Given the description of an element on the screen output the (x, y) to click on. 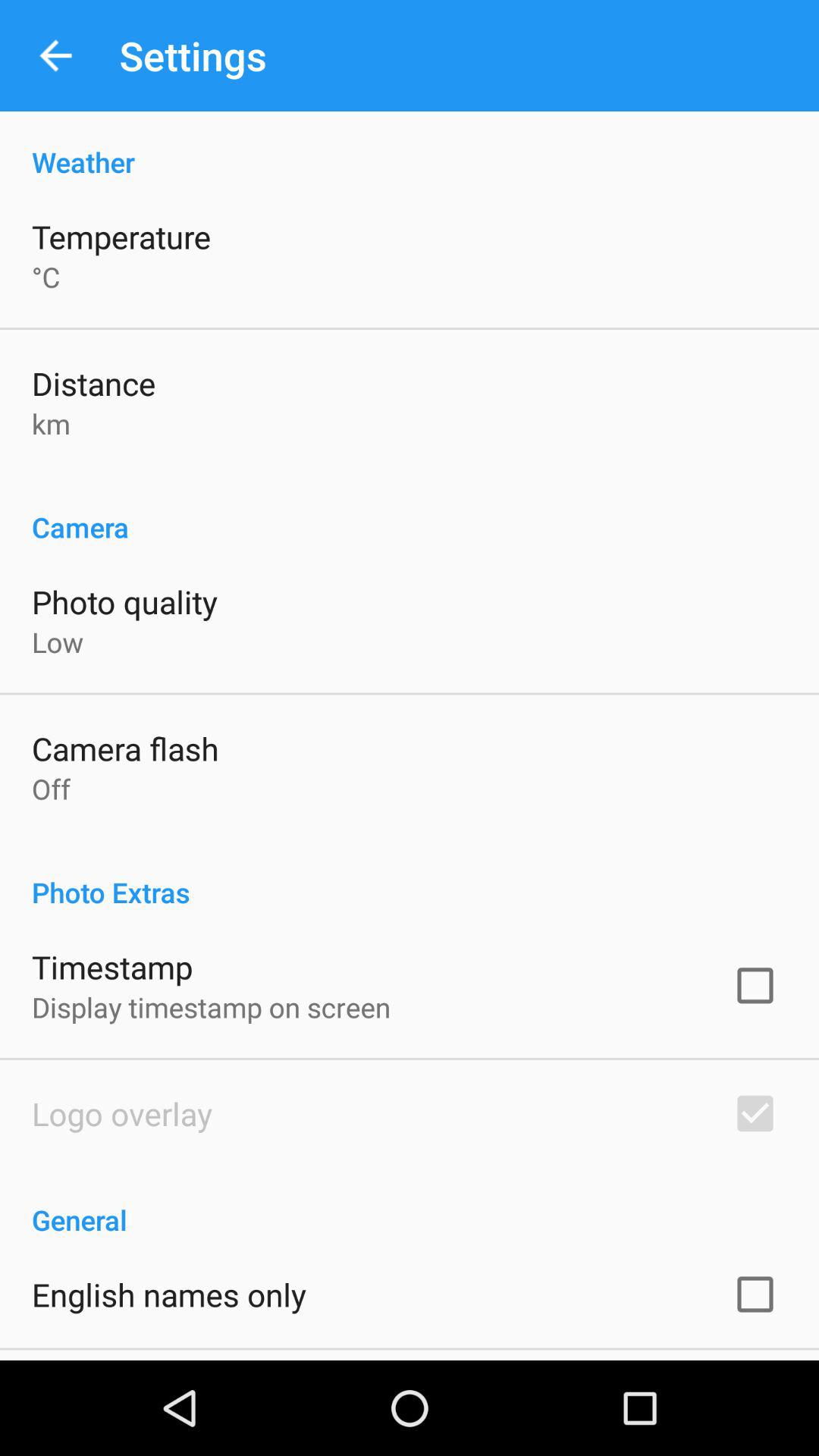
go to previous (55, 55)
